Given the description of an element on the screen output the (x, y) to click on. 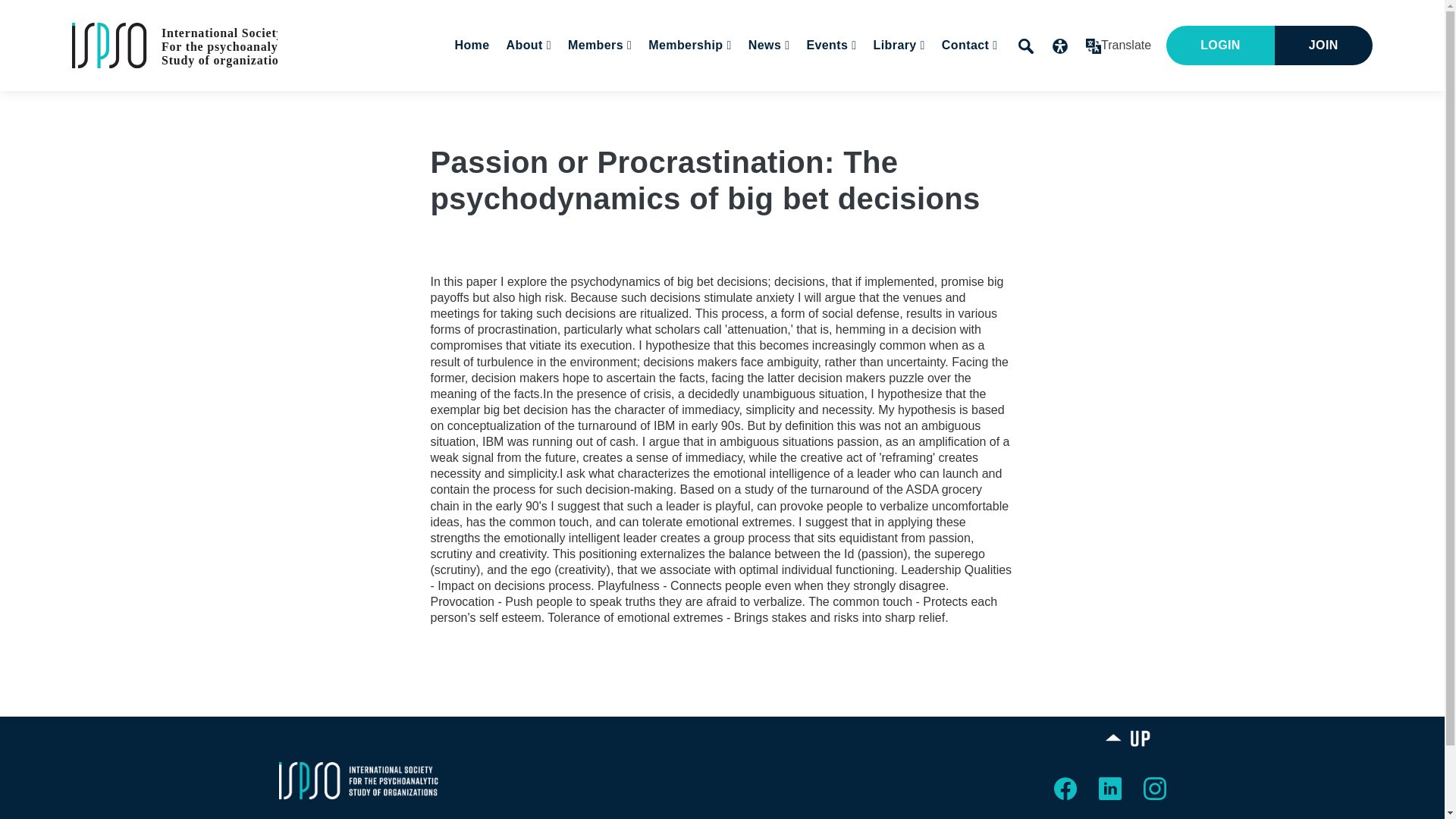
Past Presidents (650, 90)
Governing Documents (856, 90)
Our Approach (606, 90)
My Account (677, 90)
Board Of Directors (623, 90)
Membership Application (766, 90)
Members Benefits (747, 90)
Members (597, 45)
Journals (850, 90)
Membership (687, 45)
Distinguished Members (629, 90)
ISPSO 40th Anniversary Celebrations (923, 97)
Library (896, 45)
AM2024 Sofia, Bulgaria (915, 90)
Bridger Award (635, 90)
